Given the description of an element on the screen output the (x, y) to click on. 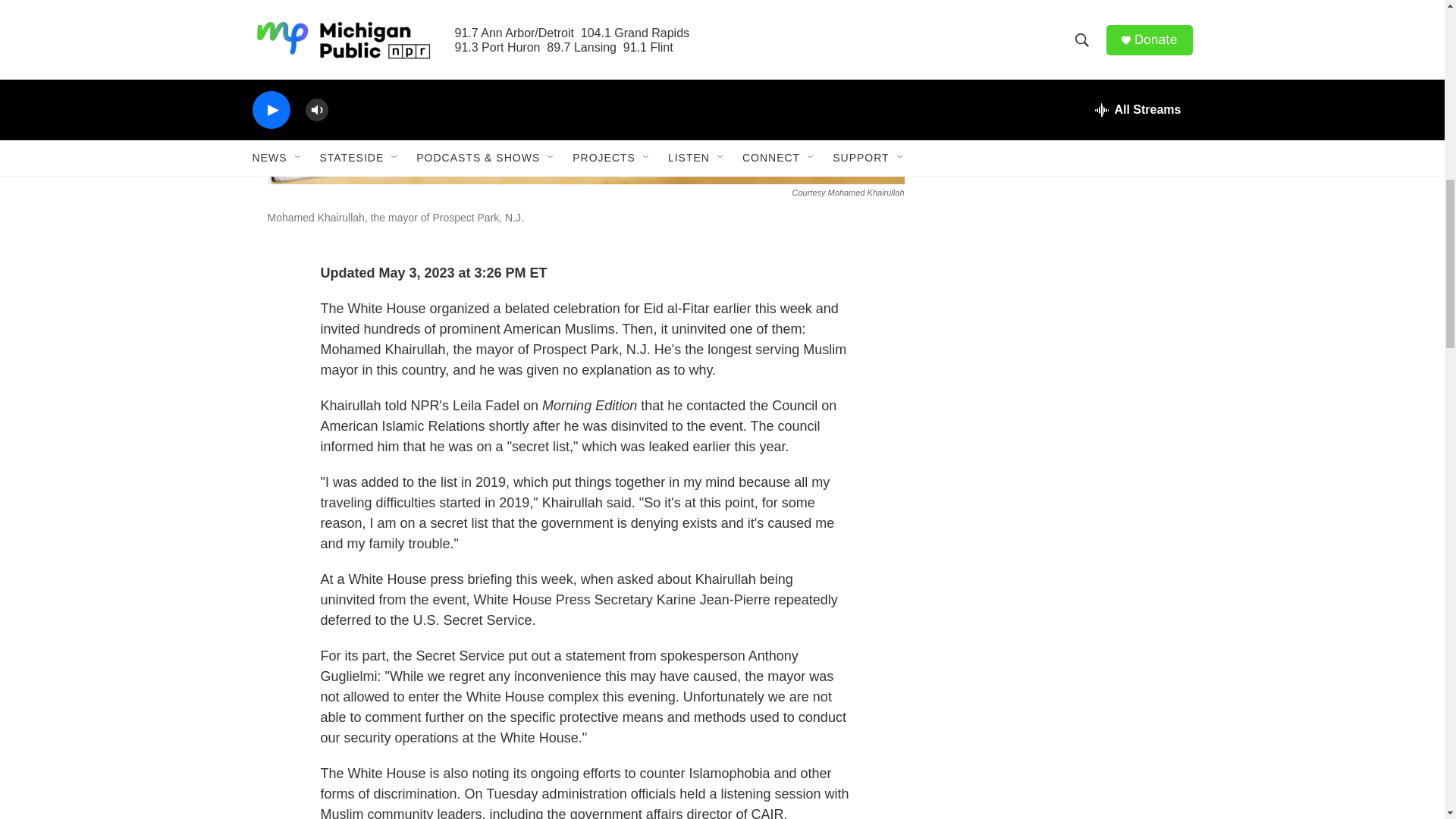
3rd party ad content (1062, 275)
3rd party ad content (1062, 514)
